Given the description of an element on the screen output the (x, y) to click on. 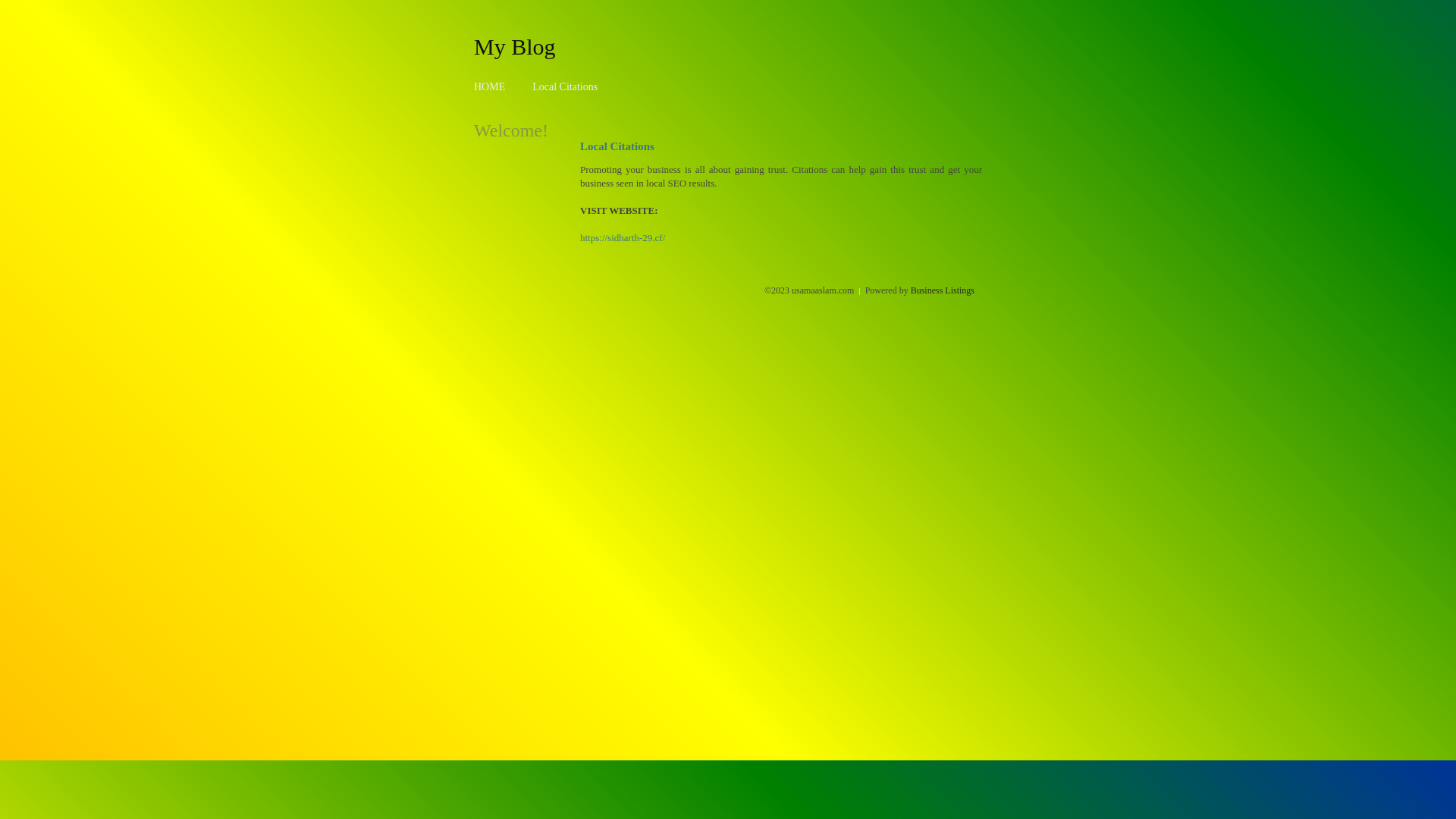
https://sidharth-29.cf/ Element type: text (622, 237)
My Blog Element type: text (514, 46)
Business Listings Element type: text (942, 290)
Local Citations Element type: text (564, 86)
HOME Element type: text (489, 86)
